Given the description of an element on the screen output the (x, y) to click on. 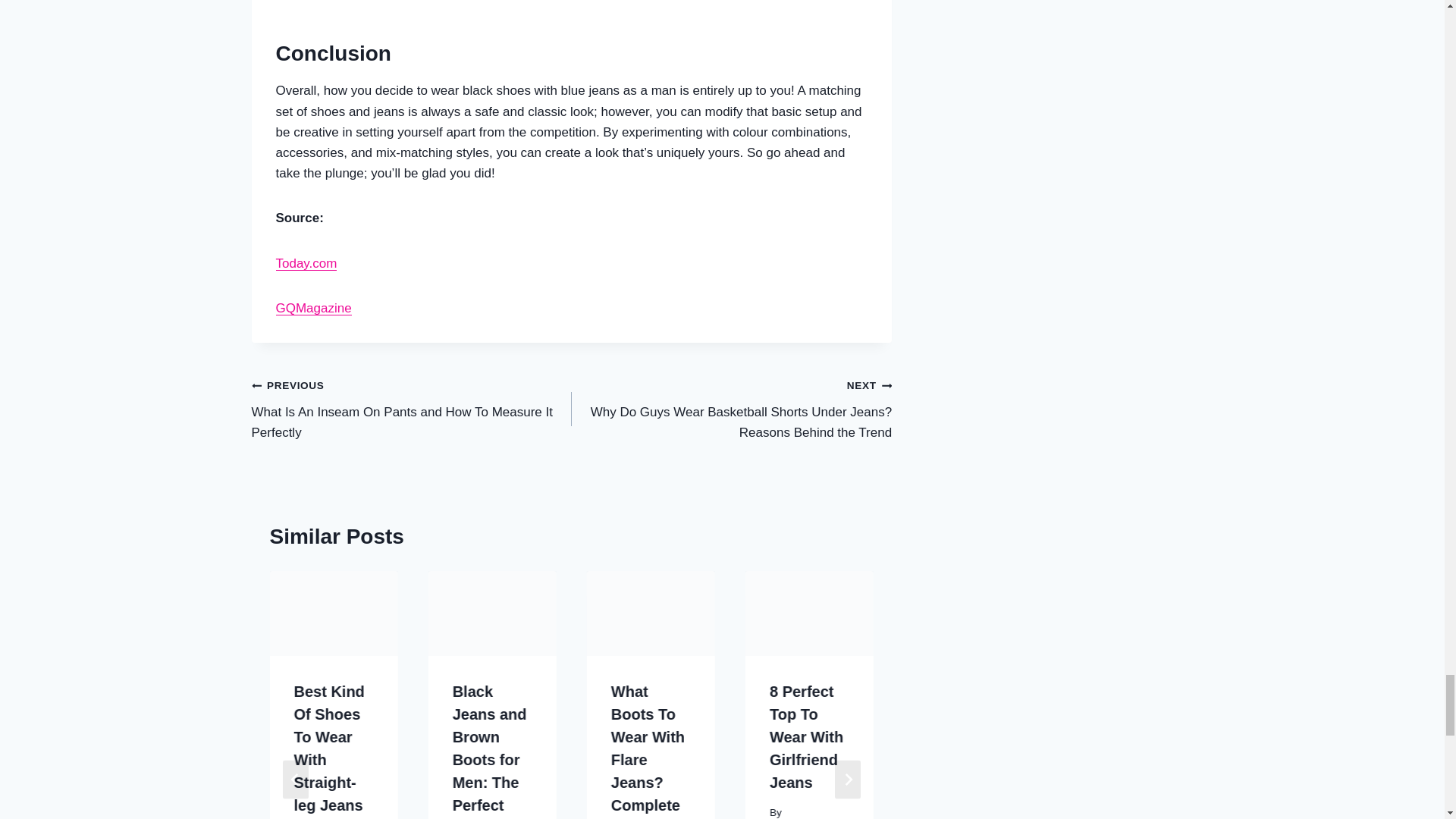
GQMagazine (314, 308)
Today.com (306, 263)
